Given the description of an element on the screen output the (x, y) to click on. 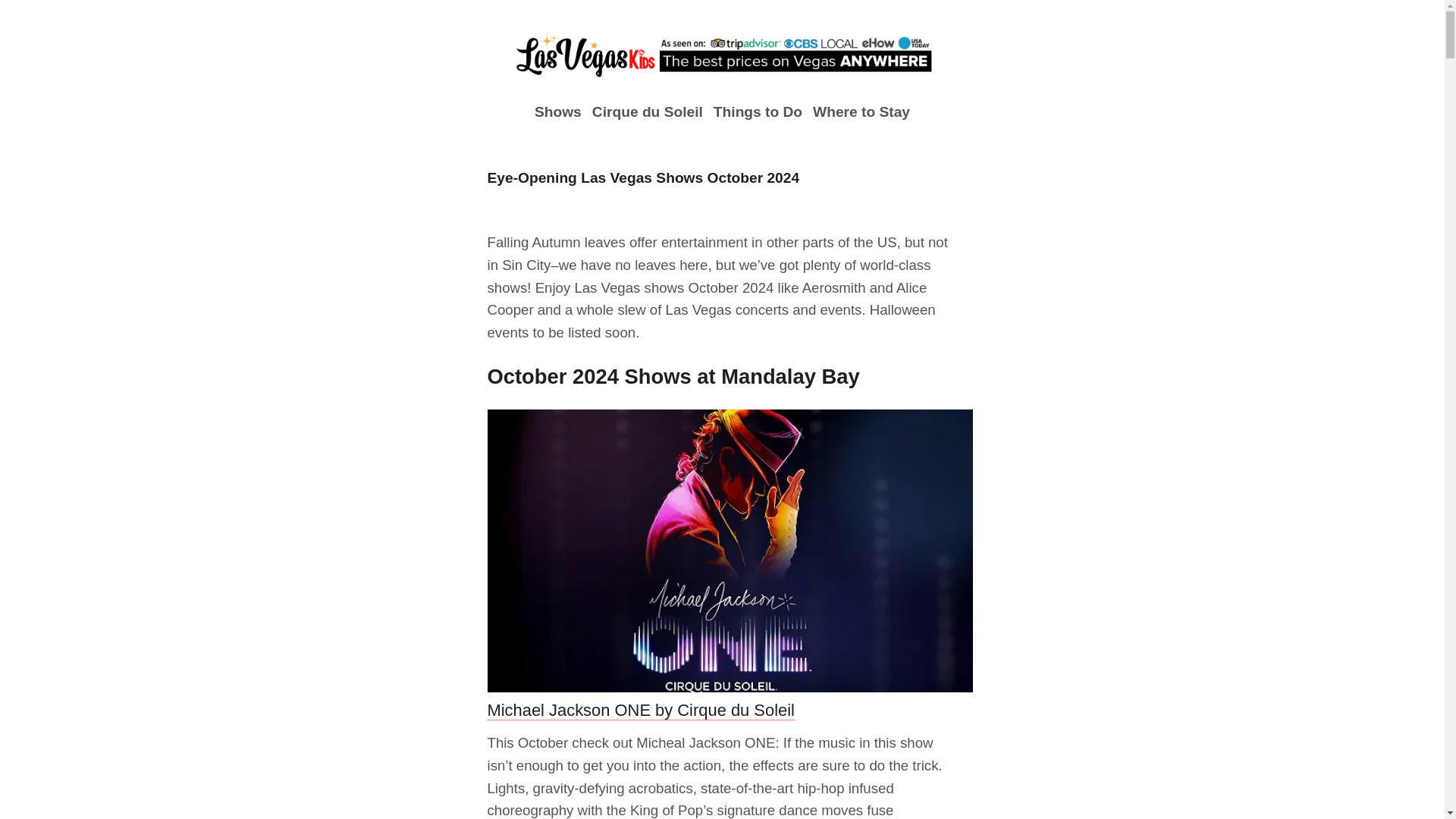
Things to Do (757, 112)
Where to Stay (861, 112)
Shows (557, 112)
Cirque du Soleil (647, 112)
